Given the description of an element on the screen output the (x, y) to click on. 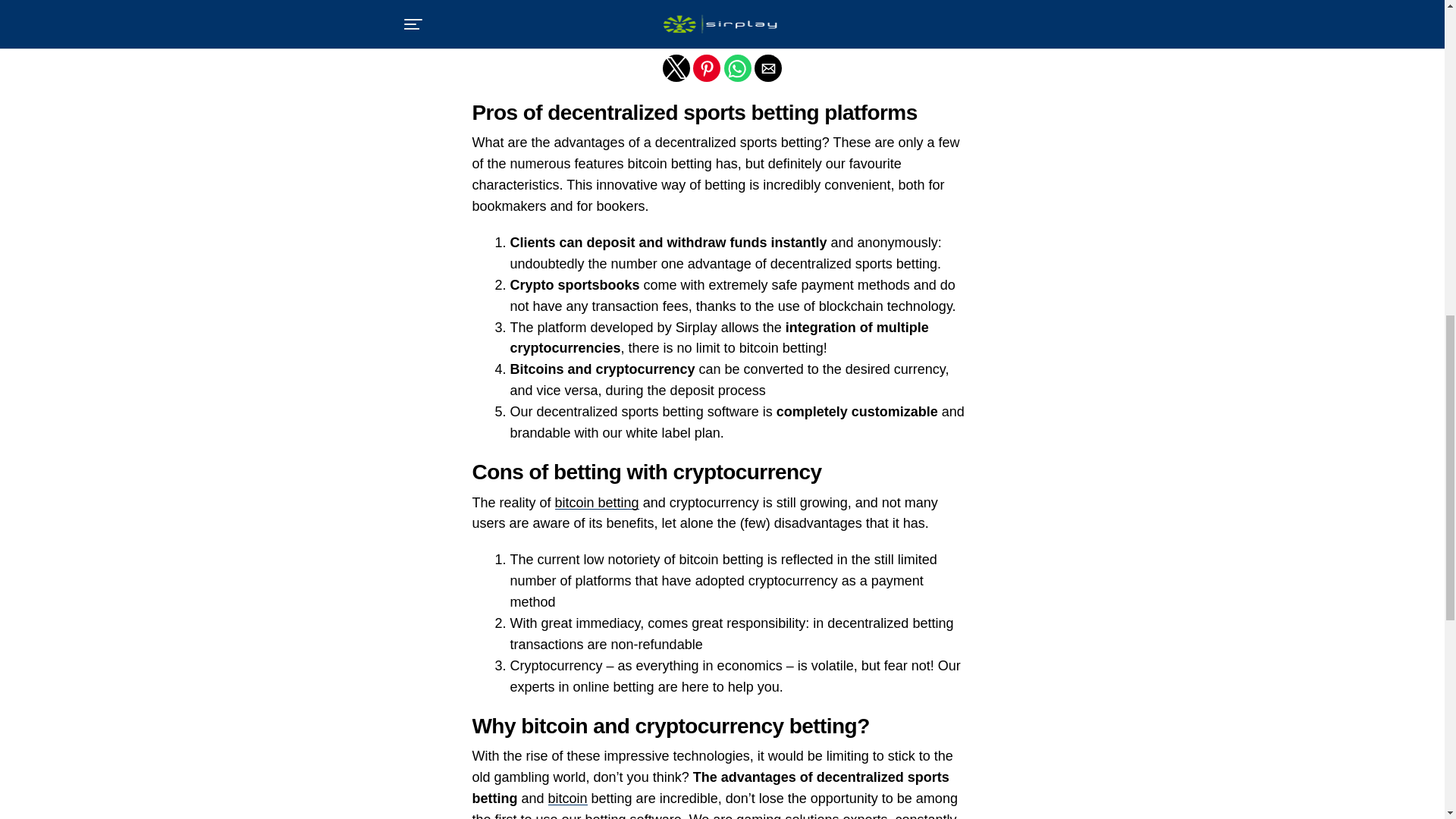
bitcoin betting (596, 502)
We are gaming solutions experts (788, 815)
decentralized sports betting platforms (693, 8)
bitcoin (568, 798)
